Given the description of an element on the screen output the (x, y) to click on. 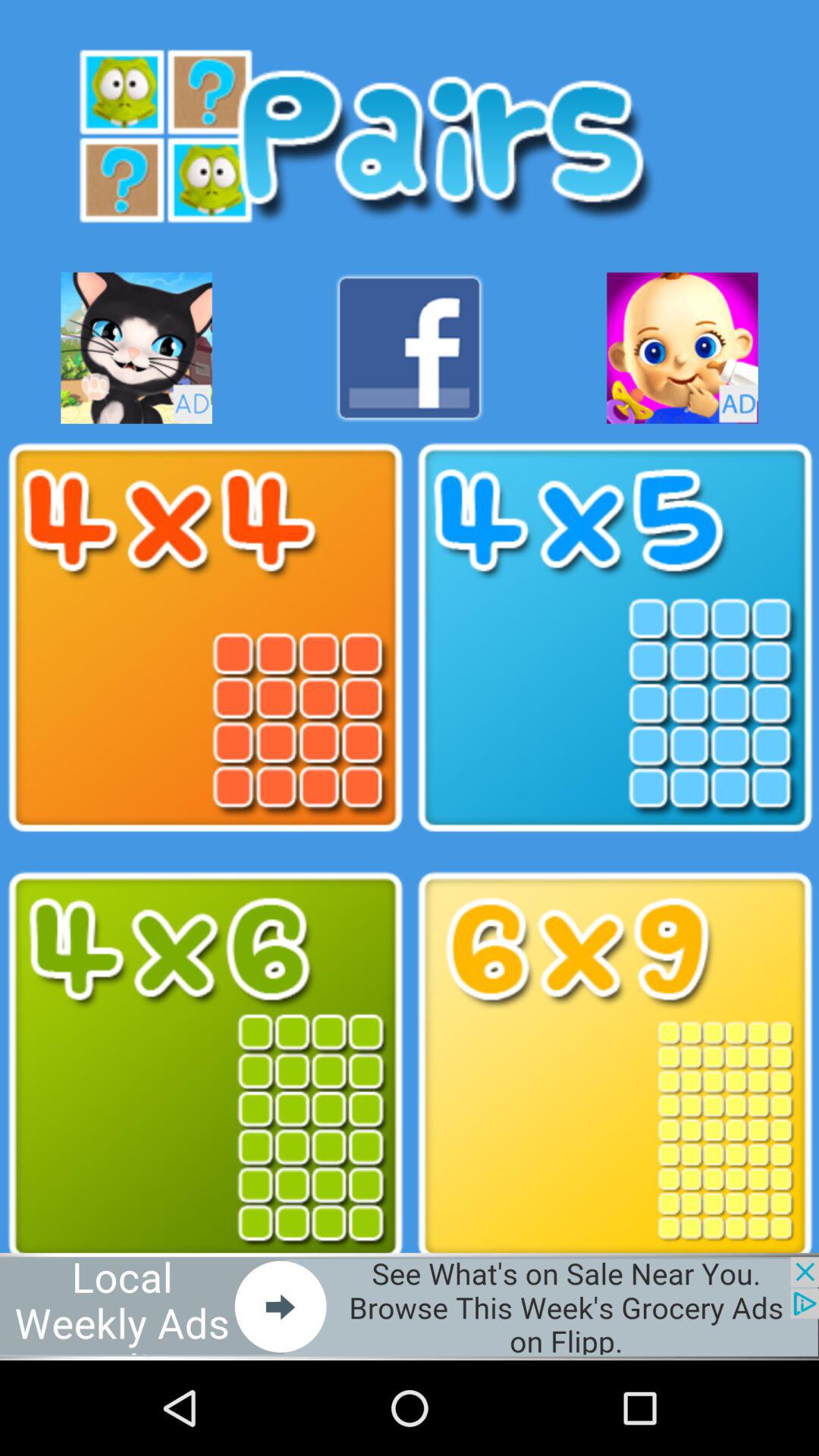
game button (136, 347)
